Given the description of an element on the screen output the (x, y) to click on. 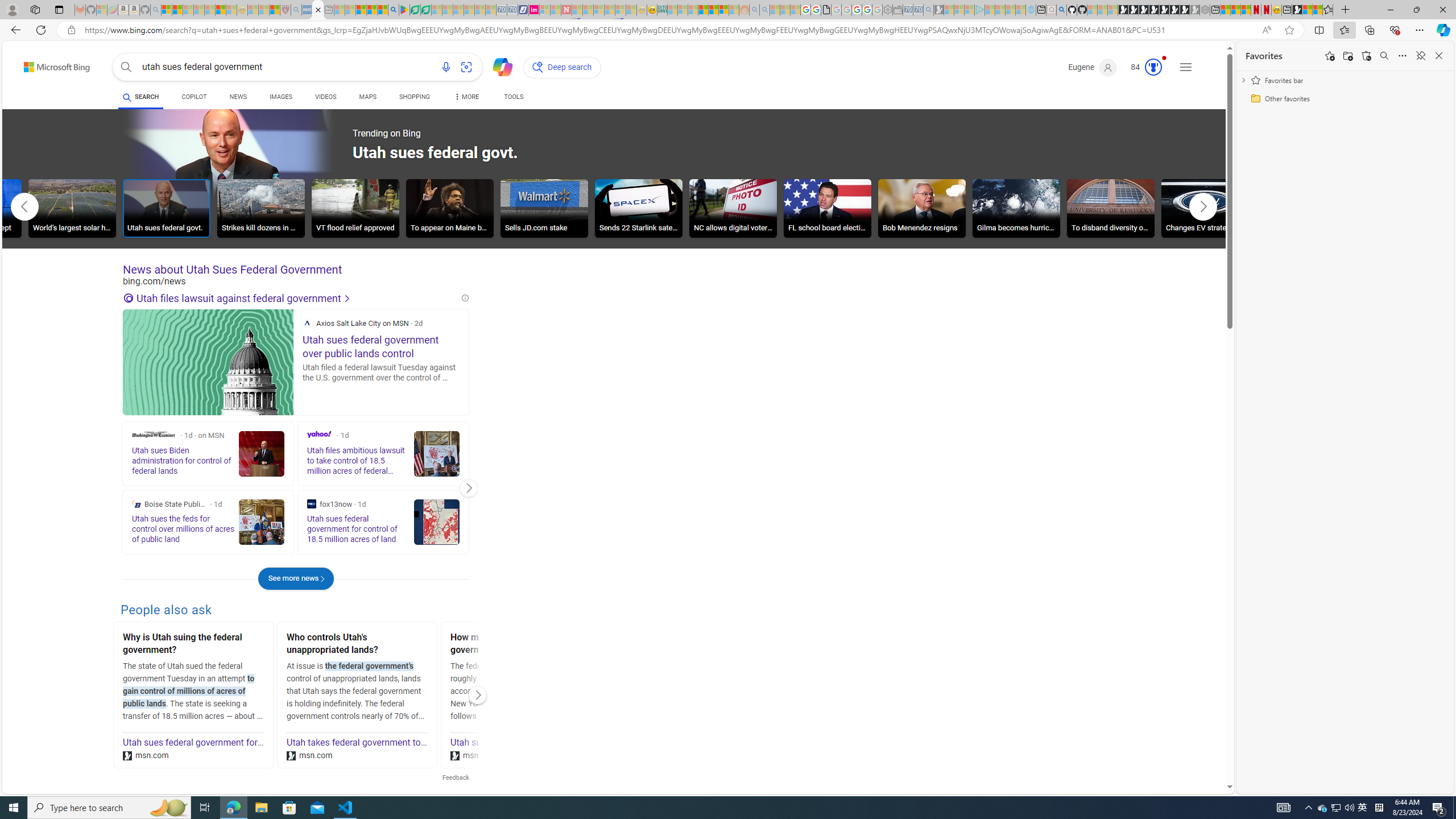
Changes EV strategy (1205, 209)
Sends 22 Starlink satellites (638, 209)
FL school board elections (826, 209)
Sends 22 Starlink satellites (638, 207)
Trending on Bing Utah sues federal govt. (338, 153)
SEARCH (140, 96)
bing.com/news (295, 281)
Bob Menendez resigns (921, 207)
